Given the description of an element on the screen output the (x, y) to click on. 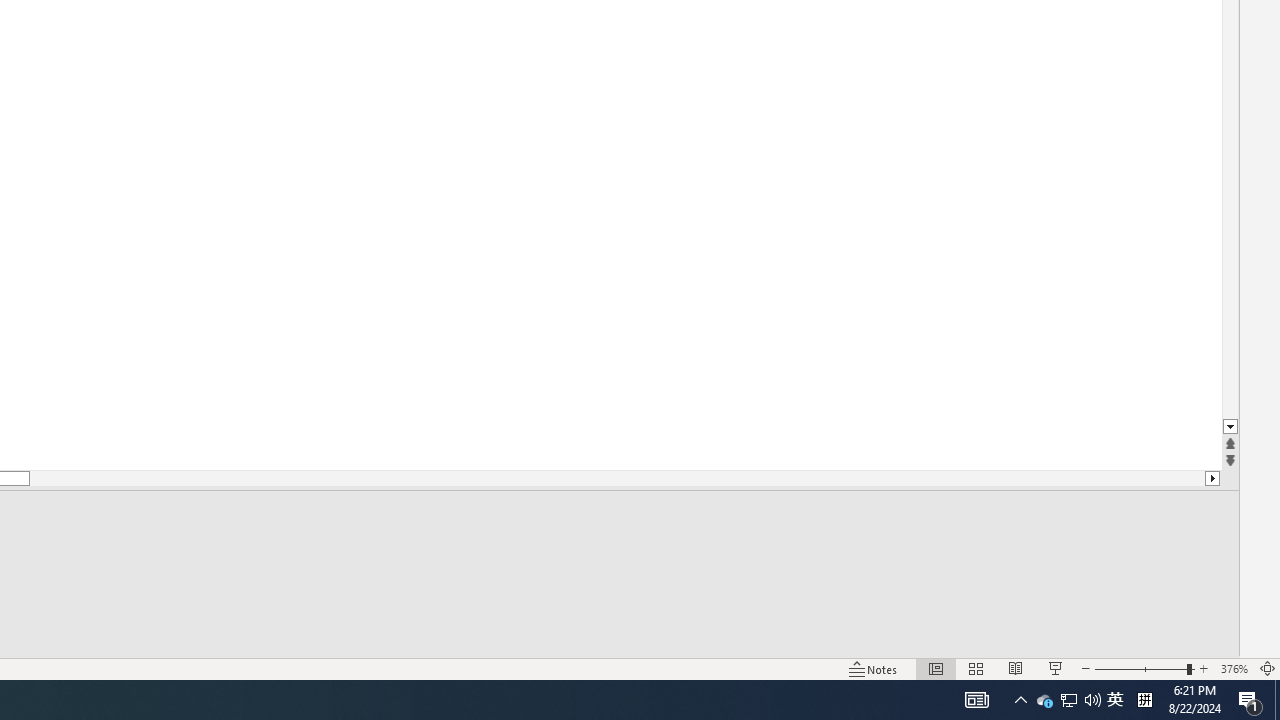
Zoom 376% (1234, 668)
